Given the description of an element on the screen output the (x, y) to click on. 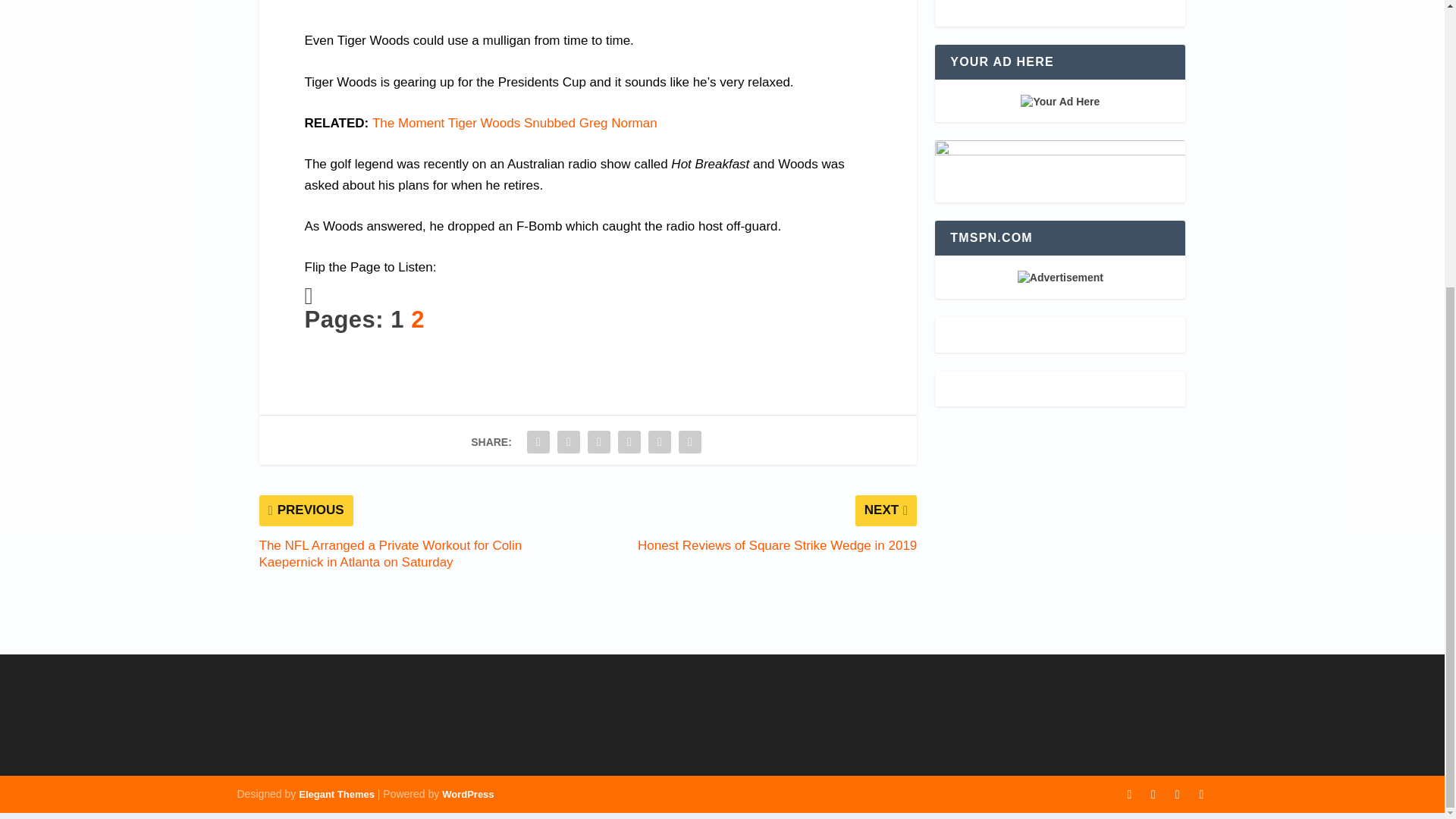
The Moment Tiger Woods Snubbed Greg Norman (515, 123)
Elegant Themes (336, 794)
Premium WordPress Themes (336, 794)
2 (417, 319)
WordPress (467, 794)
Casinos Not on Gamstop (1059, 6)
